Given the description of an element on the screen output the (x, y) to click on. 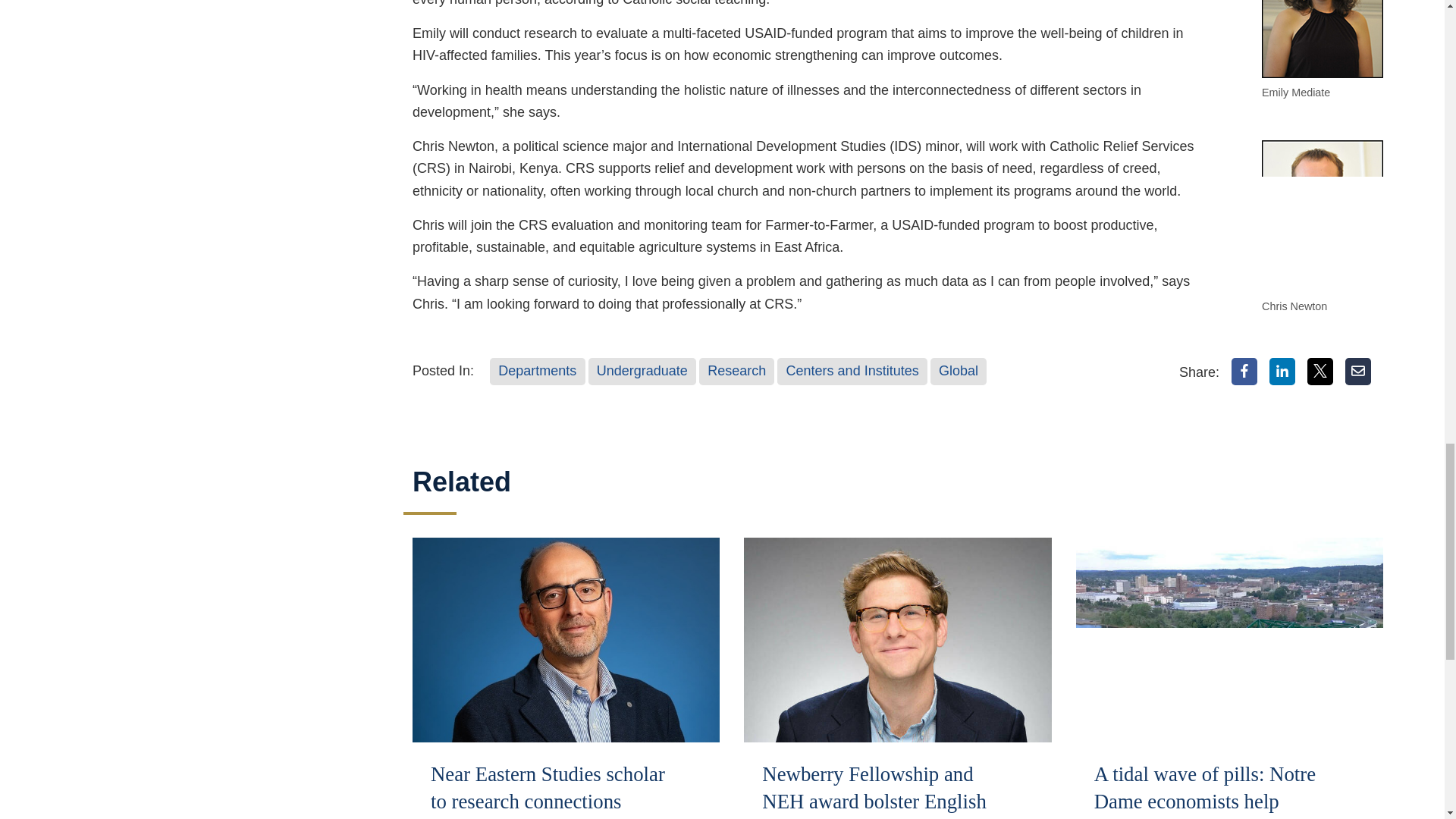
Emily Mediate (1322, 38)
LinkedIn (1282, 370)
Facebook (1244, 370)
